Given the description of an element on the screen output the (x, y) to click on. 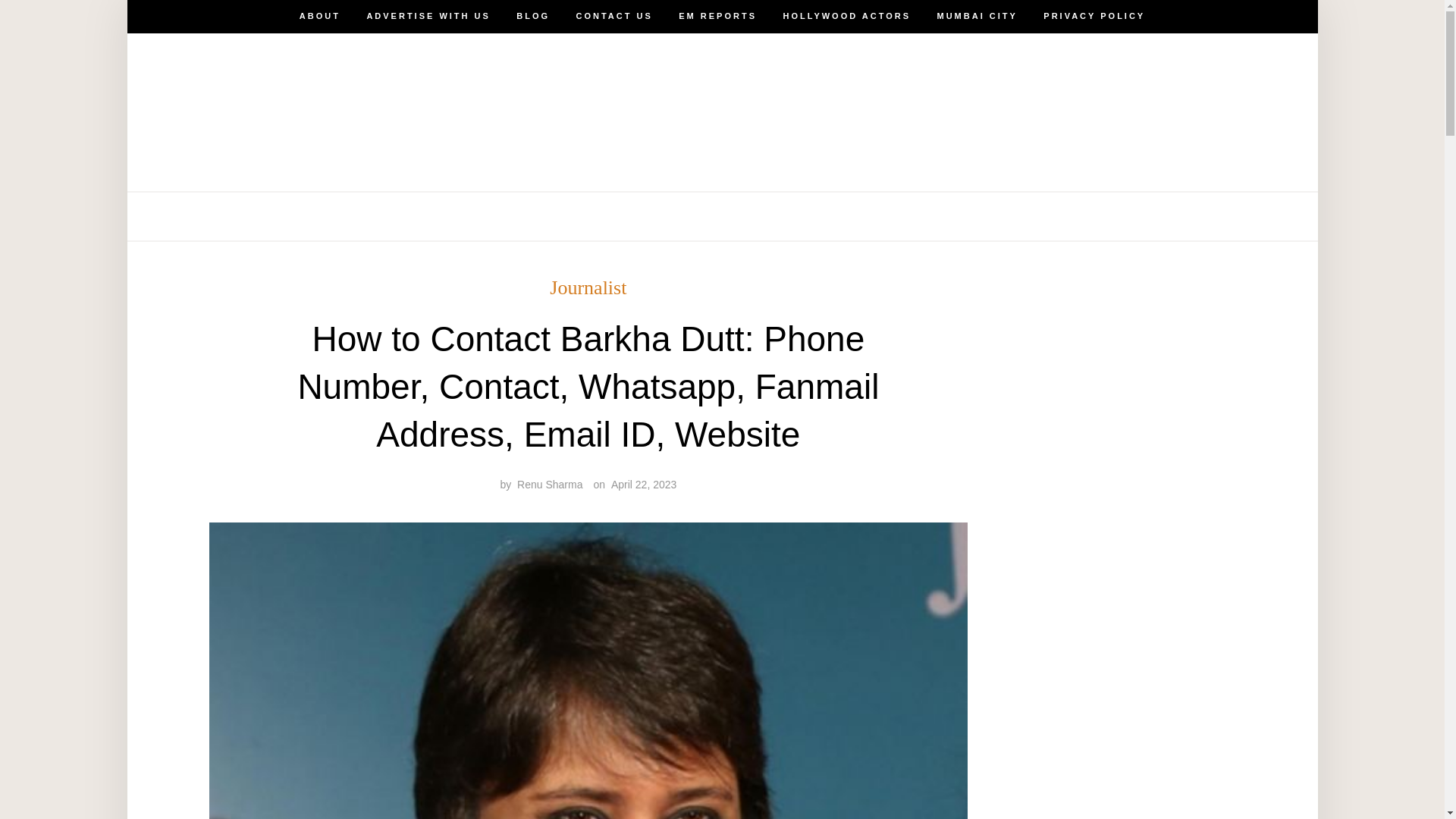
Renu Sharma (549, 484)
ADVERTISE WITH US (427, 16)
CONTACT US (614, 216)
Submit (64, 23)
HOLLYWOOD ACTORS (847, 16)
Journalist (588, 287)
BLOG (533, 16)
BLOG (533, 216)
PRIVACY POLICY (1093, 216)
PRIVACY POLICY (1093, 16)
